Given the description of an element on the screen output the (x, y) to click on. 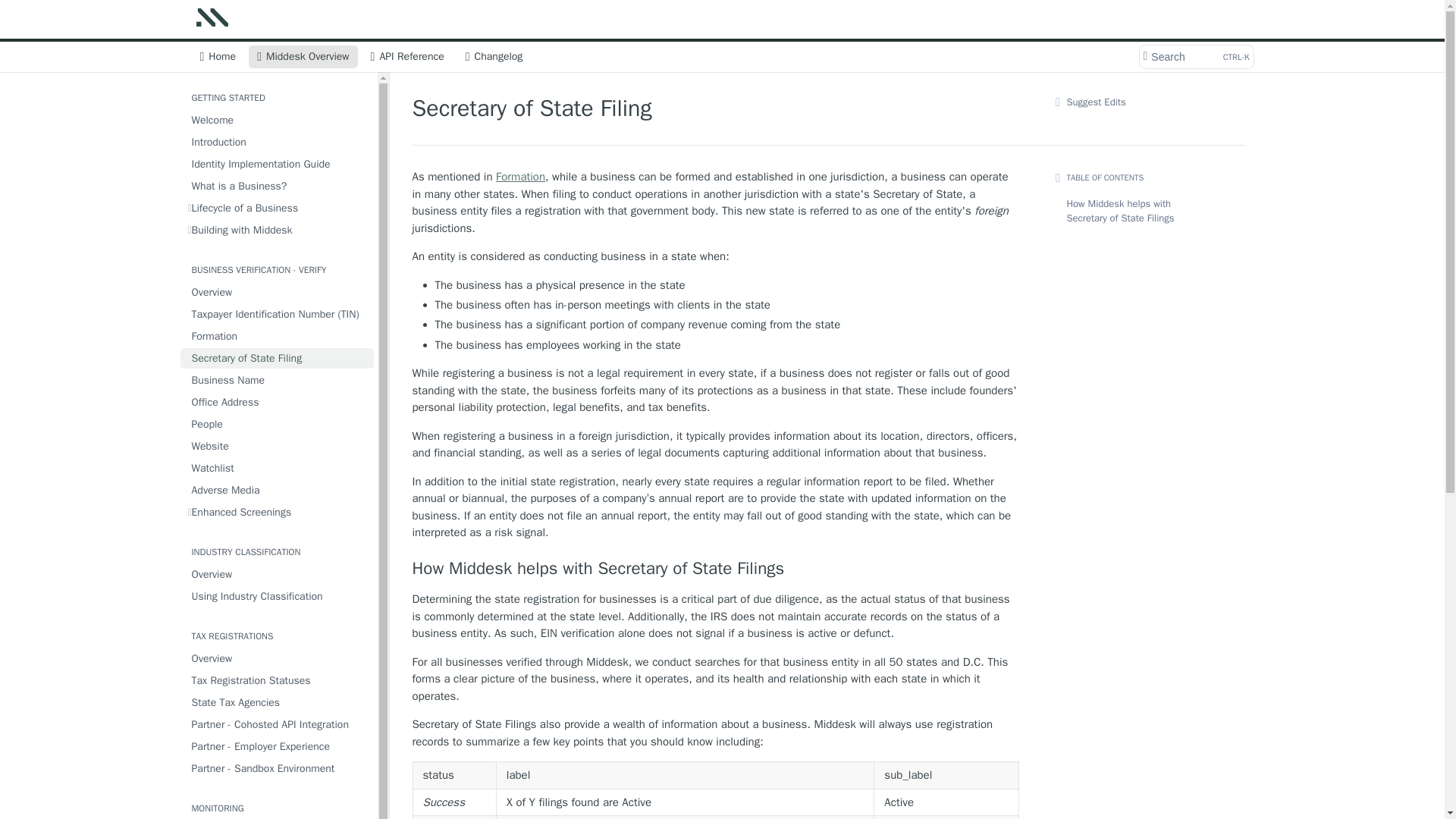
Adverse Media (277, 489)
Home (217, 56)
Business Name (277, 380)
Office Address (1195, 56)
Identity Implementation Guide (277, 402)
Overview (277, 163)
Introduction (277, 291)
How Middesk helps with Secretary of State Filings (277, 141)
Changelog (715, 568)
Formation (494, 56)
Lifecycle of a Business (277, 335)
Welcome (277, 208)
Secretary of State Filing (277, 119)
What is a Business? (277, 358)
